Given the description of an element on the screen output the (x, y) to click on. 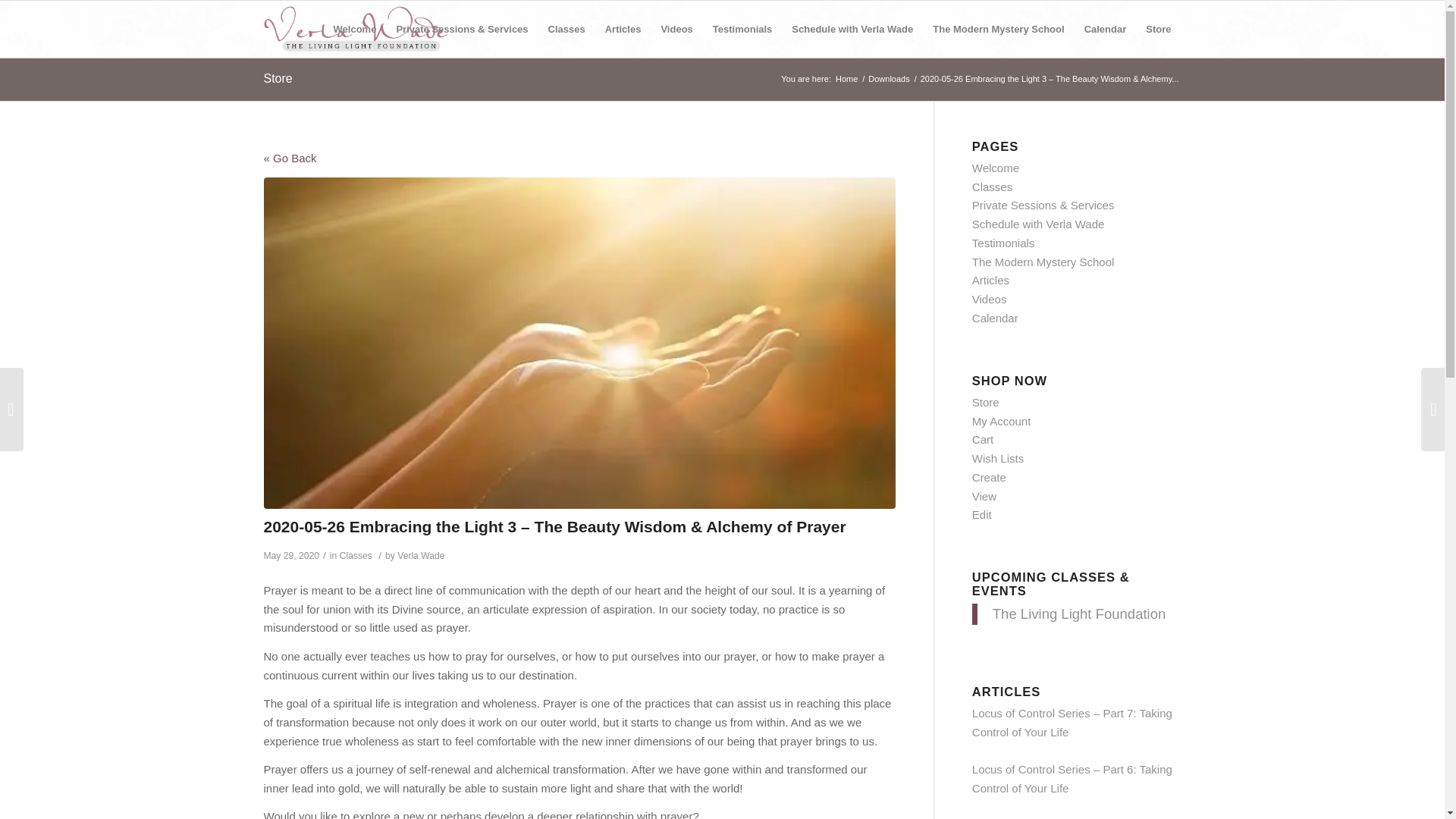
Store (277, 78)
Permanent Link: Store (277, 78)
Calendar (1105, 28)
Classes (566, 28)
Verla Wade (846, 79)
Return to the previous page (290, 157)
Testimonials (743, 28)
Schedule with Verla Wade (852, 28)
Welcome (355, 28)
The Modern Mystery School (998, 28)
Articles (622, 28)
Downloads (888, 79)
Posts by Verla Wade (420, 555)
Videos (675, 28)
